Given the description of an element on the screen output the (x, y) to click on. 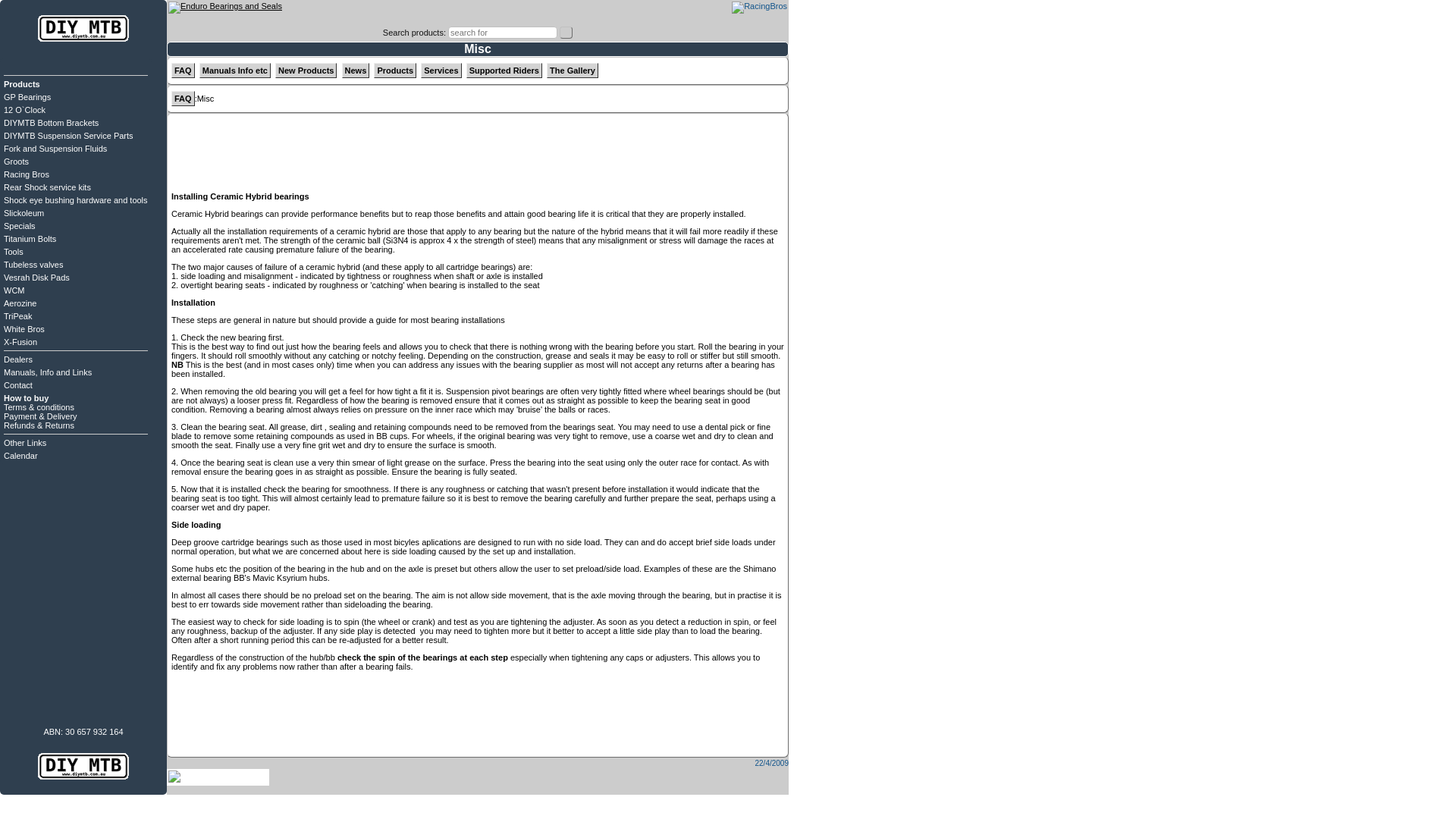
Slickoleum (23, 212)
Dealers (18, 358)
Services (440, 70)
Manuals Info etc (234, 70)
Supported Riders (503, 70)
DIYMTB Suspension Service Parts (68, 135)
Products (22, 83)
Vesrah Brake Pads (225, 5)
Tubeless valves (33, 264)
Products (395, 70)
X-Fusion (20, 341)
Fork and Suspension Fluids (55, 148)
GP Bearings (27, 96)
